Given the description of an element on the screen output the (x, y) to click on. 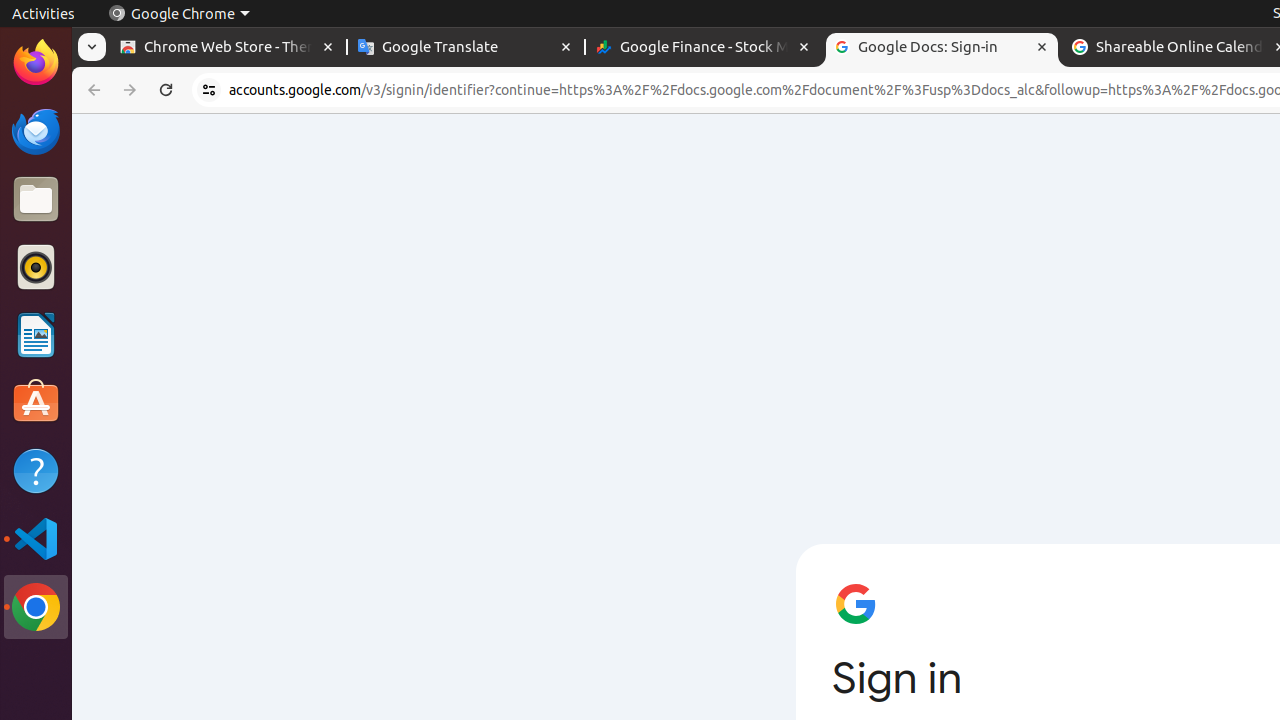
Firefox Web Browser Element type: push-button (36, 63)
Thunderbird Mail Element type: push-button (36, 131)
Google Chrome Element type: push-button (36, 607)
Rhythmbox Element type: push-button (36, 267)
Help Element type: push-button (36, 470)
